Given the description of an element on the screen output the (x, y) to click on. 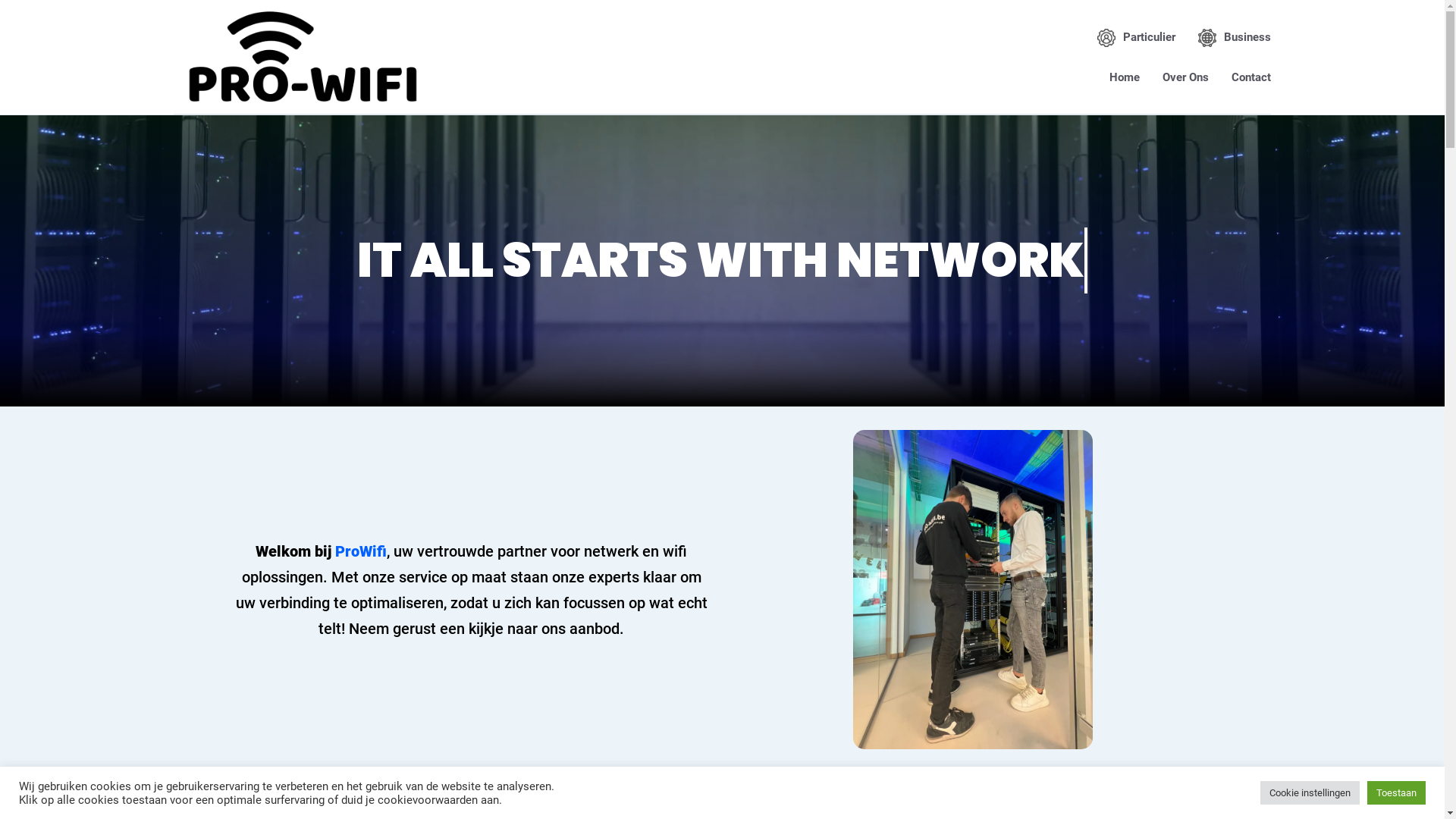
Contact Element type: text (1250, 77)
Over Ons Element type: text (1185, 77)
Business Element type: text (1234, 37)
Home Element type: text (1124, 77)
Cookie instellingen Element type: text (1309, 792)
Toestaan Element type: text (1396, 792)
Particulier Element type: text (1136, 37)
